Given the description of an element on the screen output the (x, y) to click on. 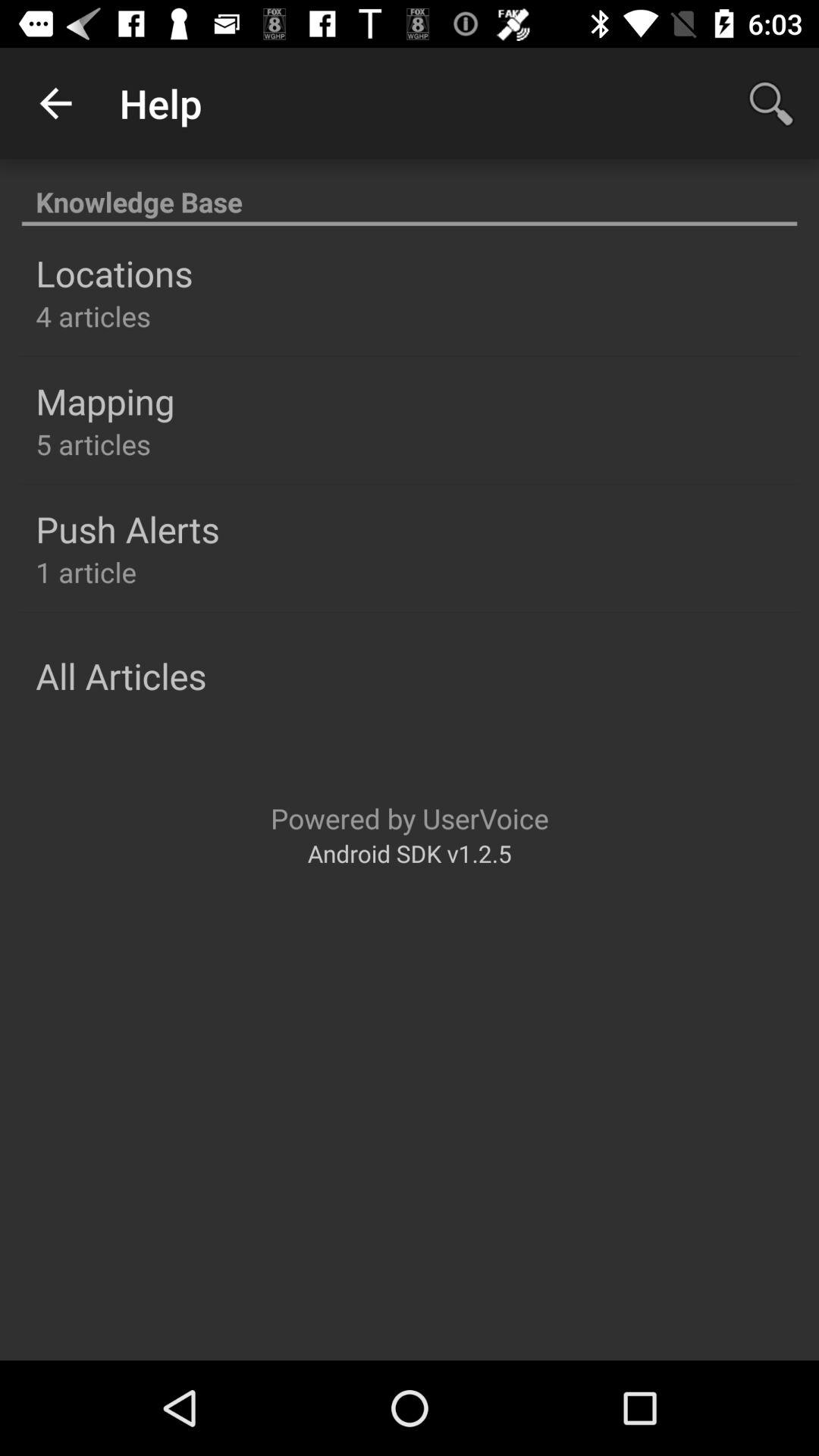
press the 5 articles (92, 443)
